Given the description of an element on the screen output the (x, y) to click on. 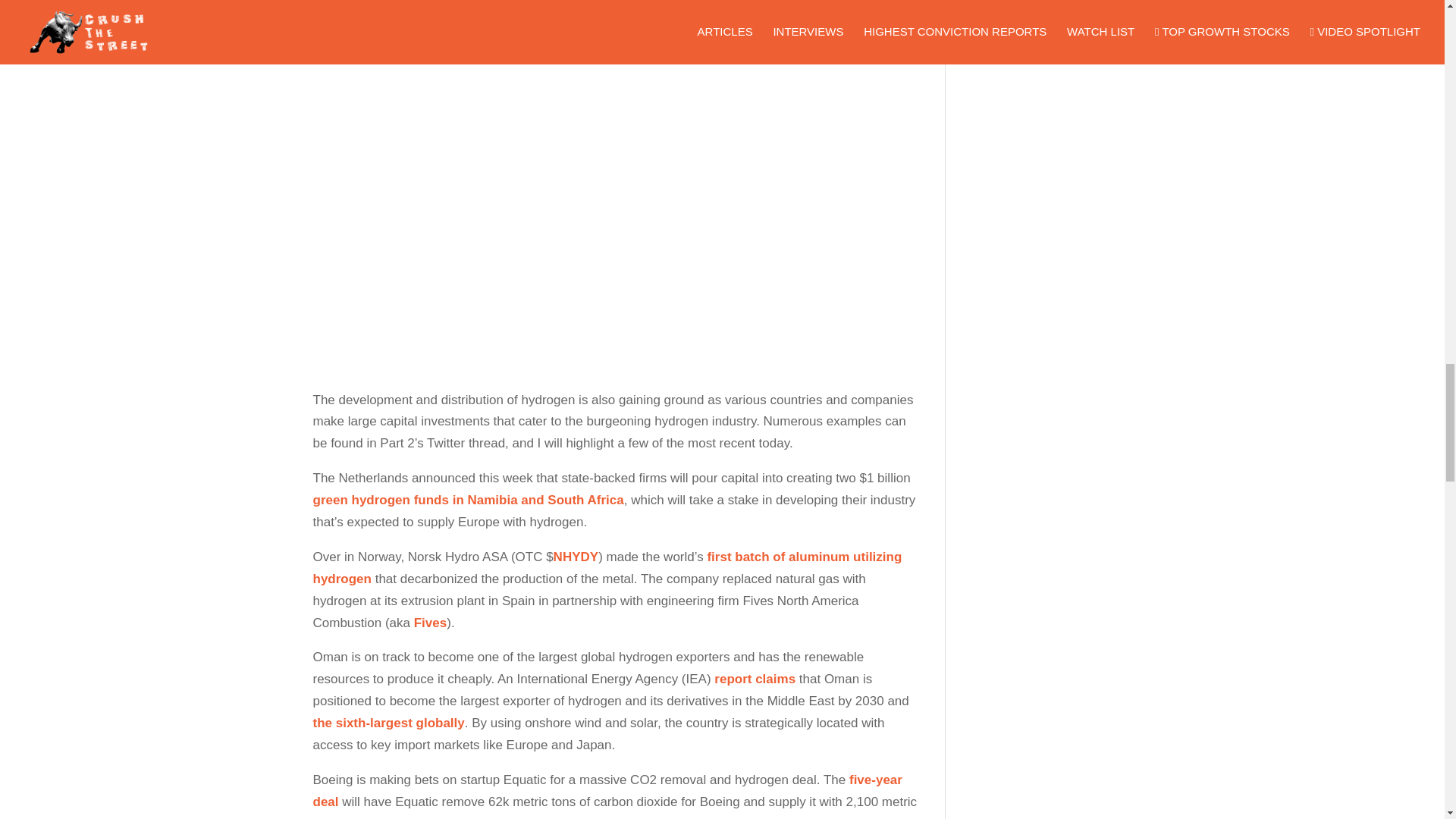
five-year deal (607, 791)
report claims (754, 678)
the sixth-largest globally (388, 722)
green hydrogen funds in Namibia and South Africa (468, 499)
Fives (429, 622)
first batch of aluminum utilizing hydrogen (607, 567)
NHYDY (575, 556)
